Given the description of an element on the screen output the (x, y) to click on. 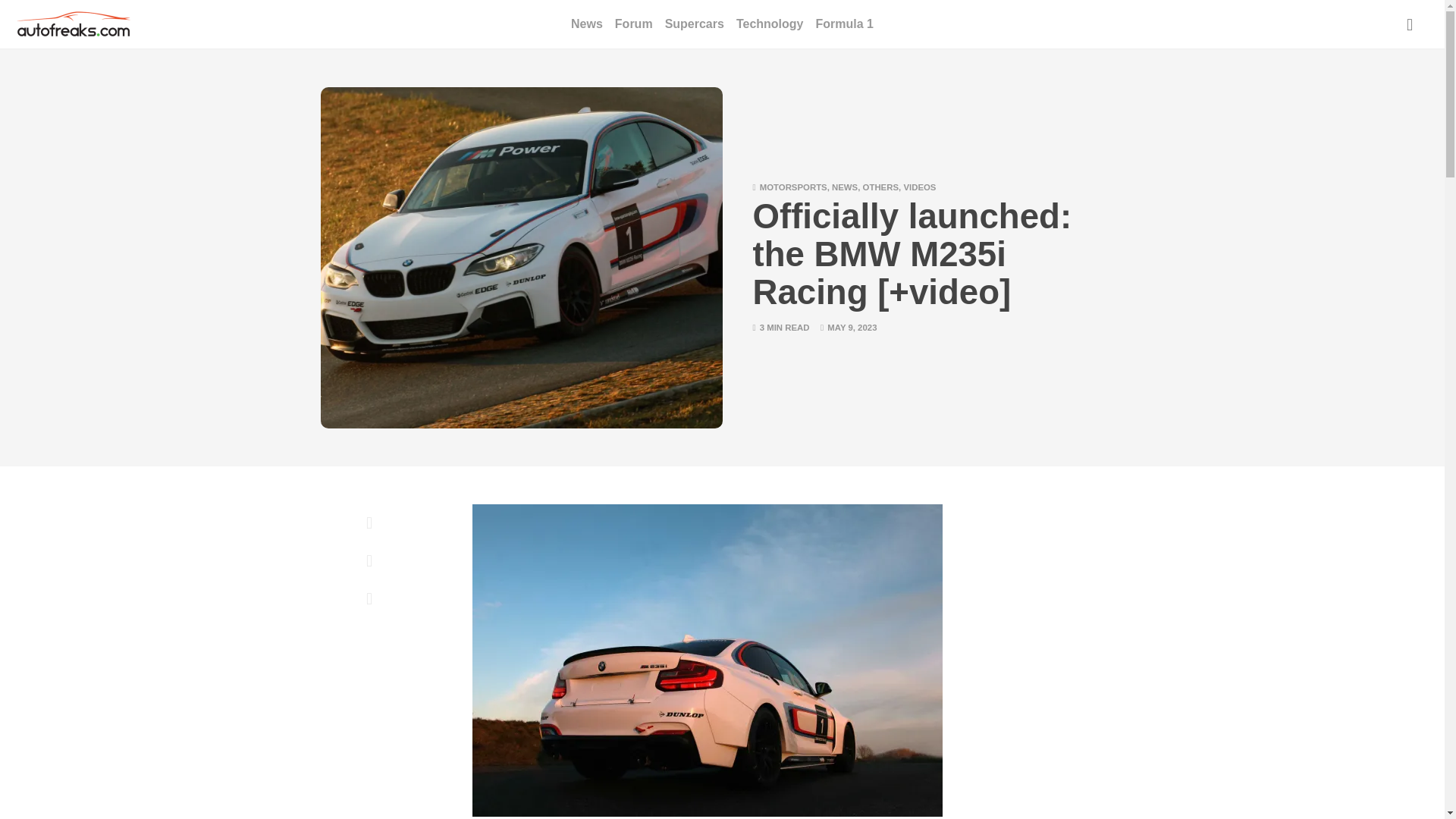
Supercars (694, 24)
Formula 1 (843, 24)
MOTORSPORTS (793, 186)
OTHERS (880, 186)
VIDEOS (919, 186)
Technology (769, 24)
NEWS (844, 186)
